Given the description of an element on the screen output the (x, y) to click on. 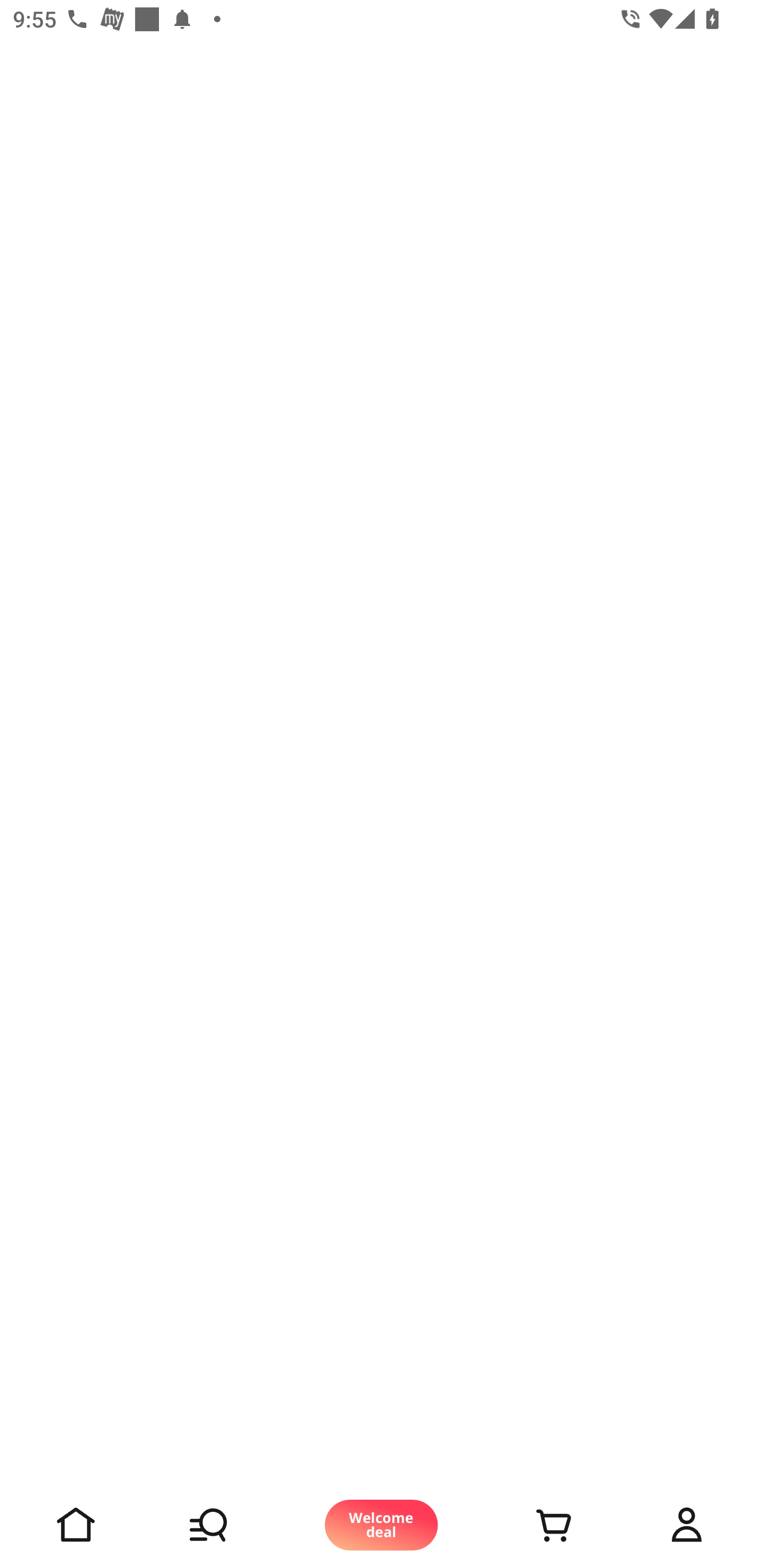
Home (76, 1524)
Shop (228, 1524)
Cart (533, 1524)
Account (686, 1524)
